Given the description of an element on the screen output the (x, y) to click on. 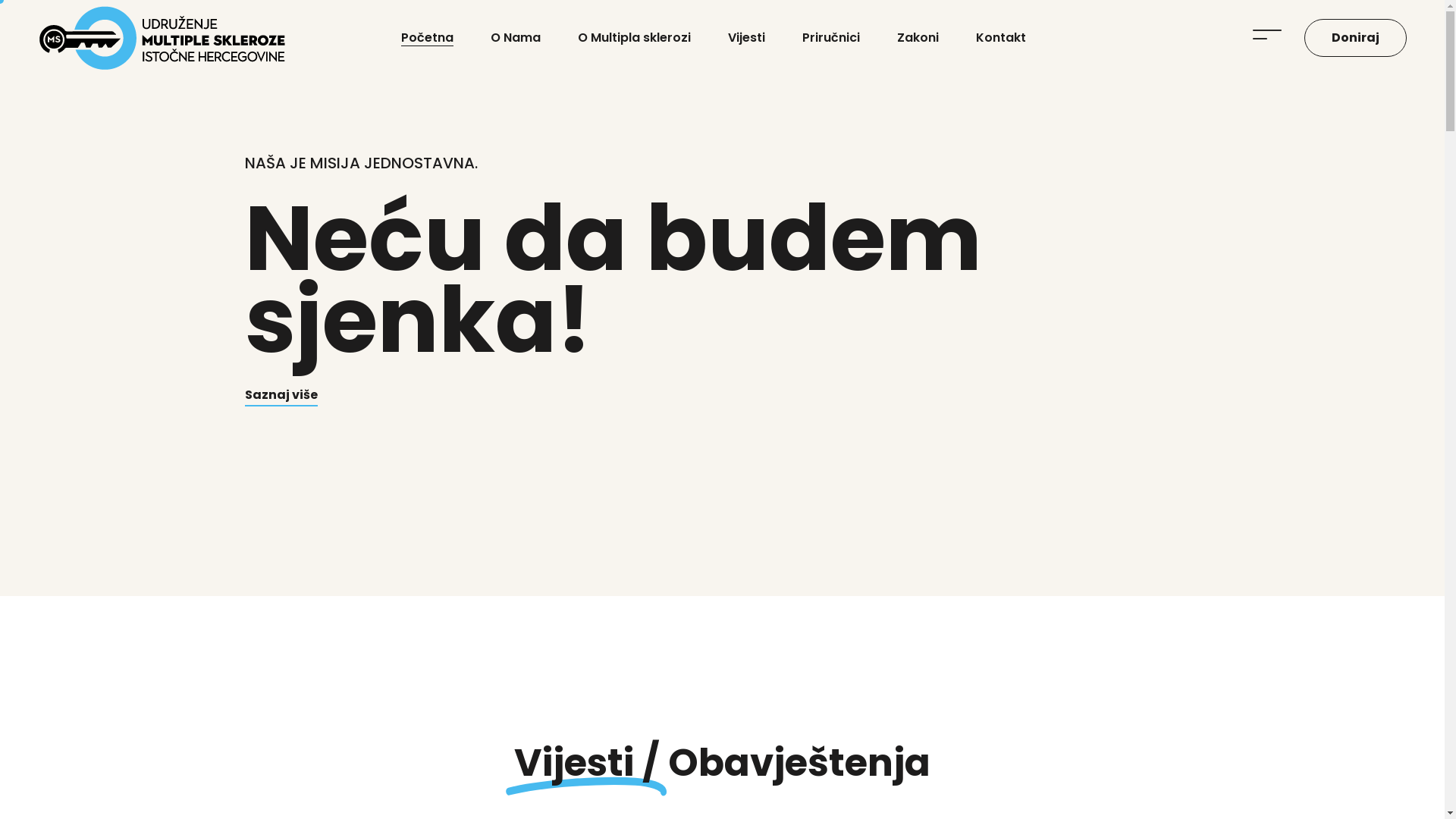
O Nama Element type: text (515, 37)
O Multipla sklerozi Element type: text (633, 37)
Zakoni Element type: text (917, 37)
Vijesti Element type: text (746, 37)
Doniraj Element type: text (1355, 37)
Kontakt Element type: text (1000, 37)
